Given the description of an element on the screen output the (x, y) to click on. 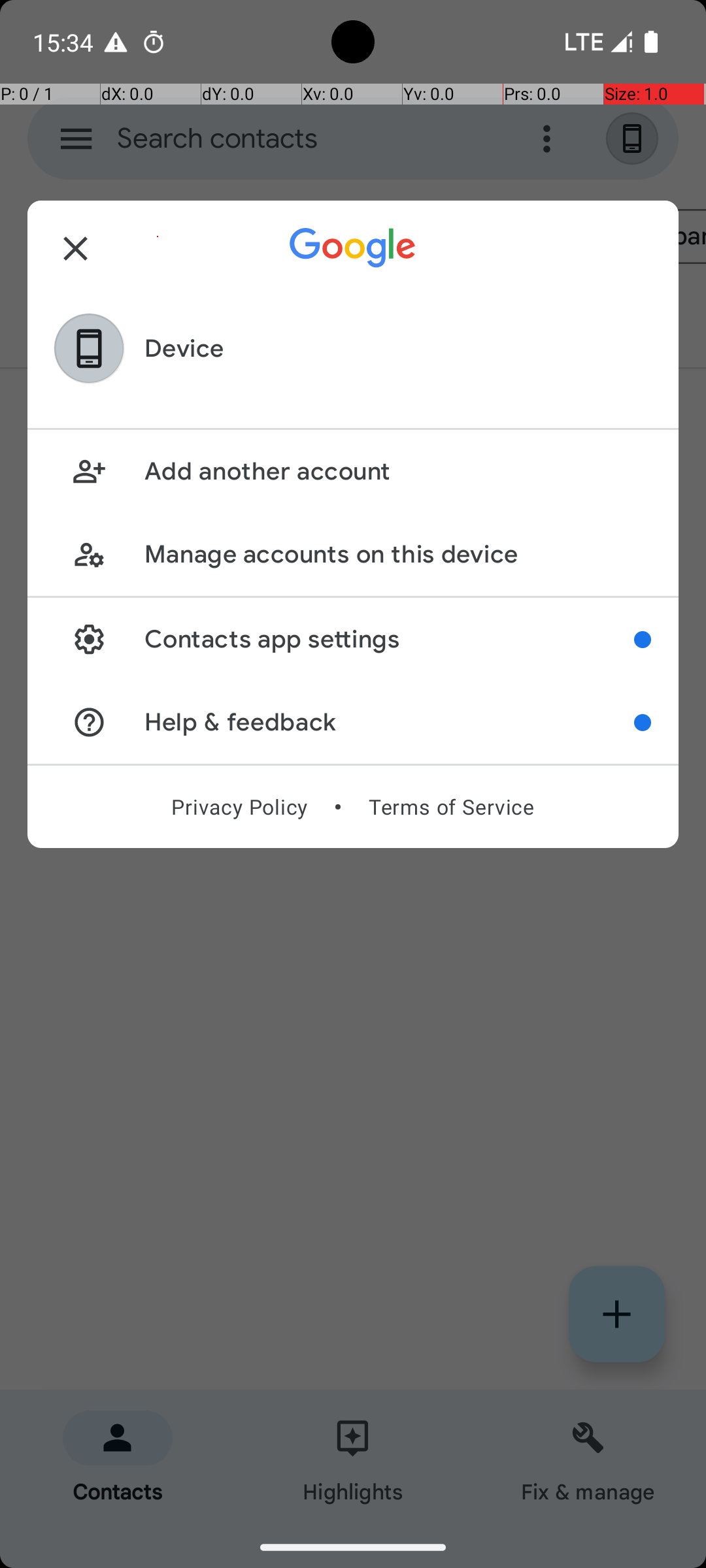
Close Element type: android.widget.ImageView (75, 248)
Privacy Policy Element type: android.widget.Button (239, 806)
Terms of Service Element type: android.widget.Button (450, 806)
Device Element type: android.widget.TextView (184, 348)
Add another account Element type: android.widget.TextView (397, 471)
Manage accounts on this device Element type: android.widget.TextView (397, 554)
Contacts app settings Element type: android.widget.TextView (389, 638)
Now you can find Settings and Help & feedback here Element type: android.widget.FrameLayout (642, 639)
Help & feedback Element type: android.widget.TextView (389, 721)
